Given the description of an element on the screen output the (x, y) to click on. 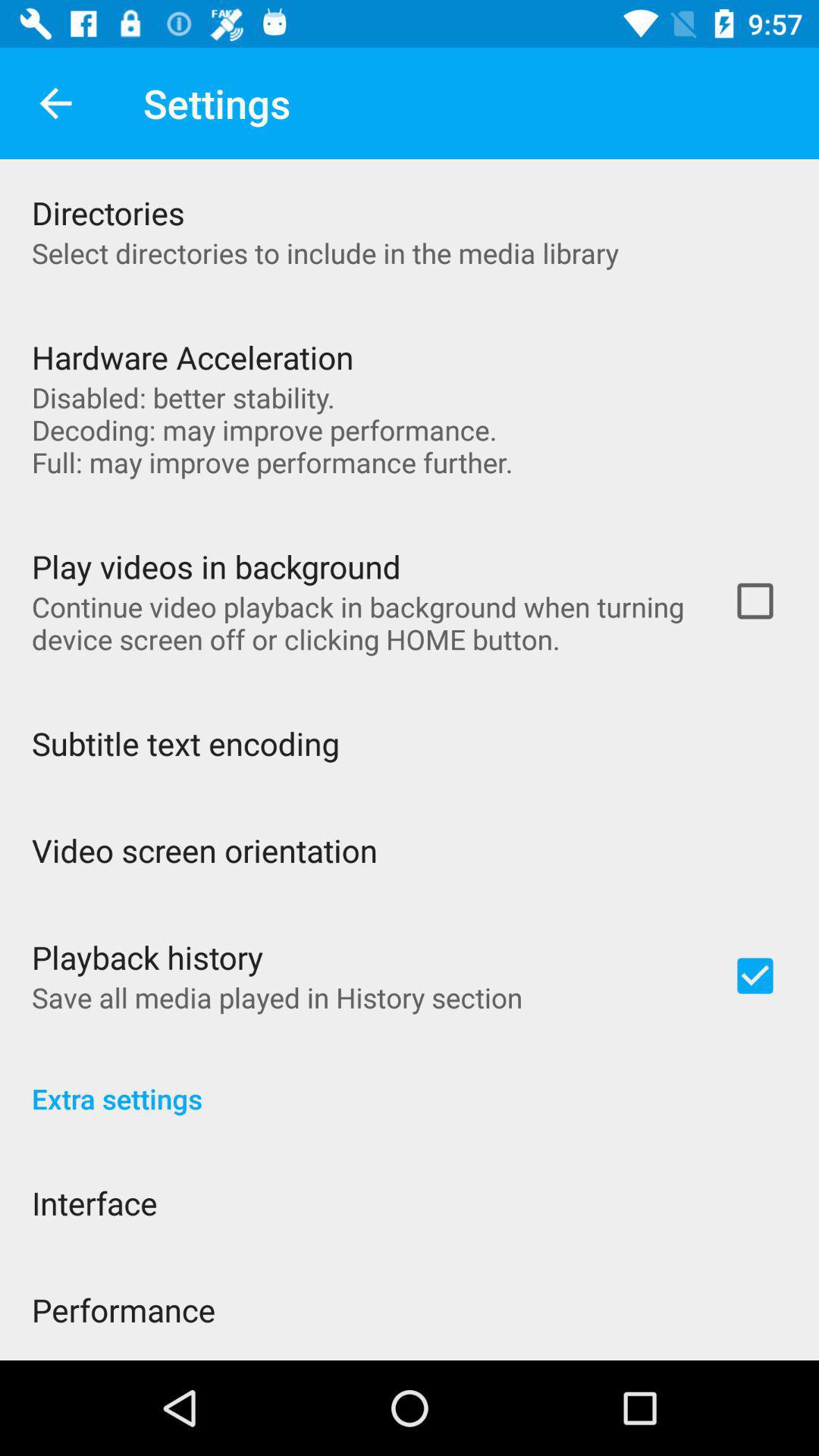
press the icon above the directories item (55, 103)
